Given the description of an element on the screen output the (x, y) to click on. 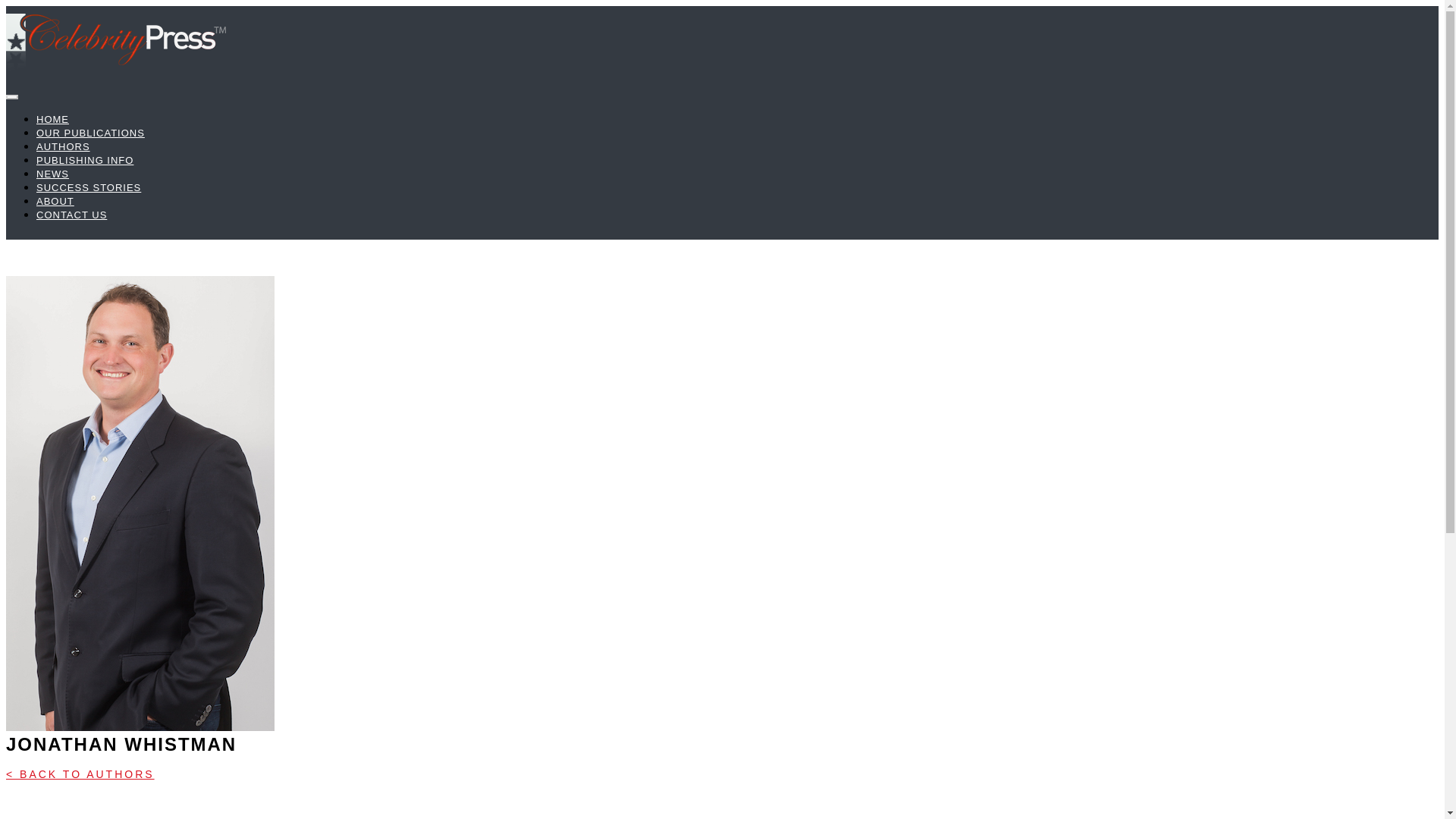
CONTACT US (71, 214)
OUR PUBLICATIONS (90, 132)
PUBLISHING INFO (84, 160)
HOME (52, 119)
ABOUT (55, 201)
SUCCESS STORIES (88, 187)
AUTHORS (63, 146)
NEWS (52, 173)
